Given the description of an element on the screen output the (x, y) to click on. 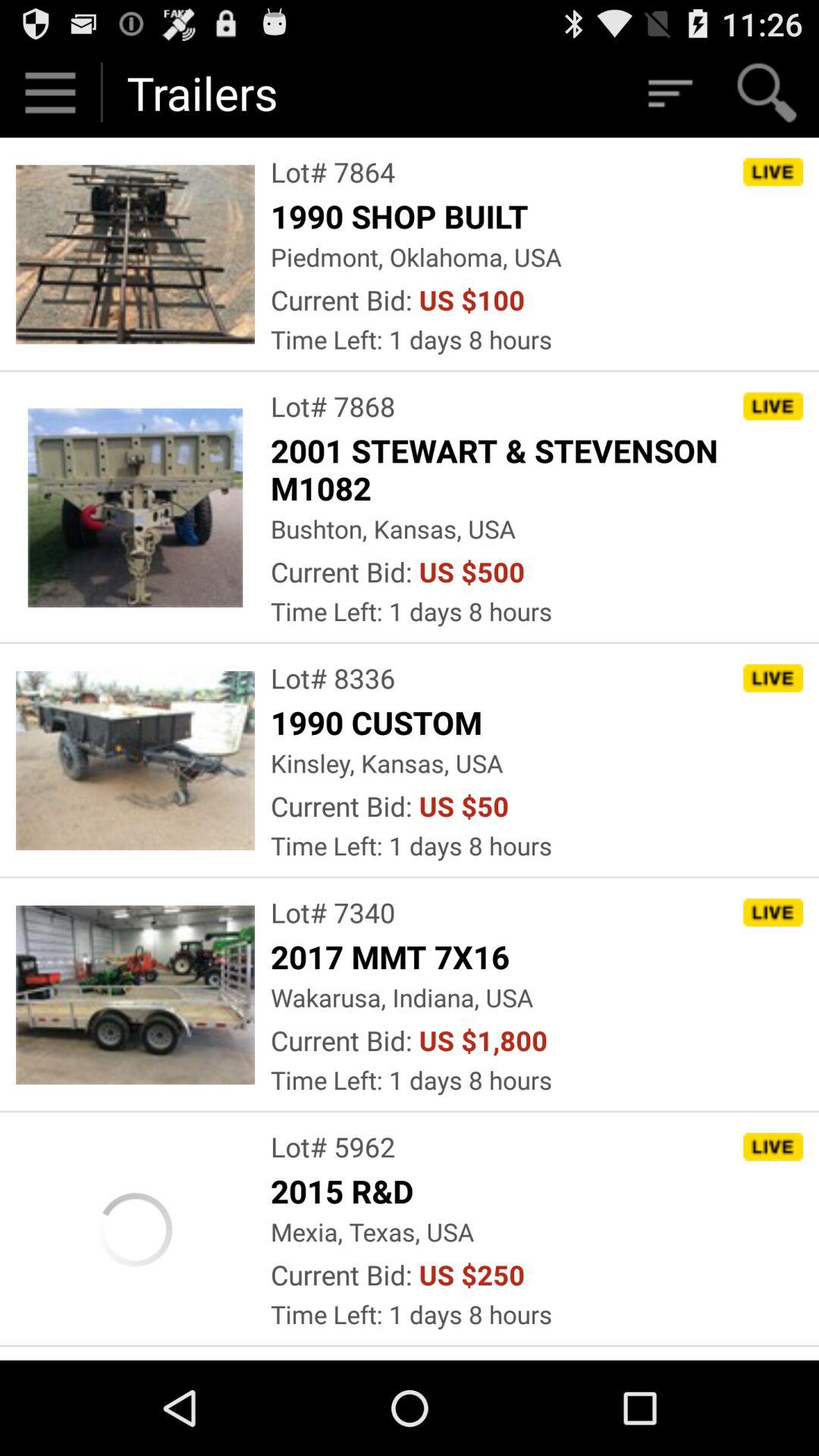
choose the icon next to the trailers item (668, 92)
